Given the description of an element on the screen output the (x, y) to click on. 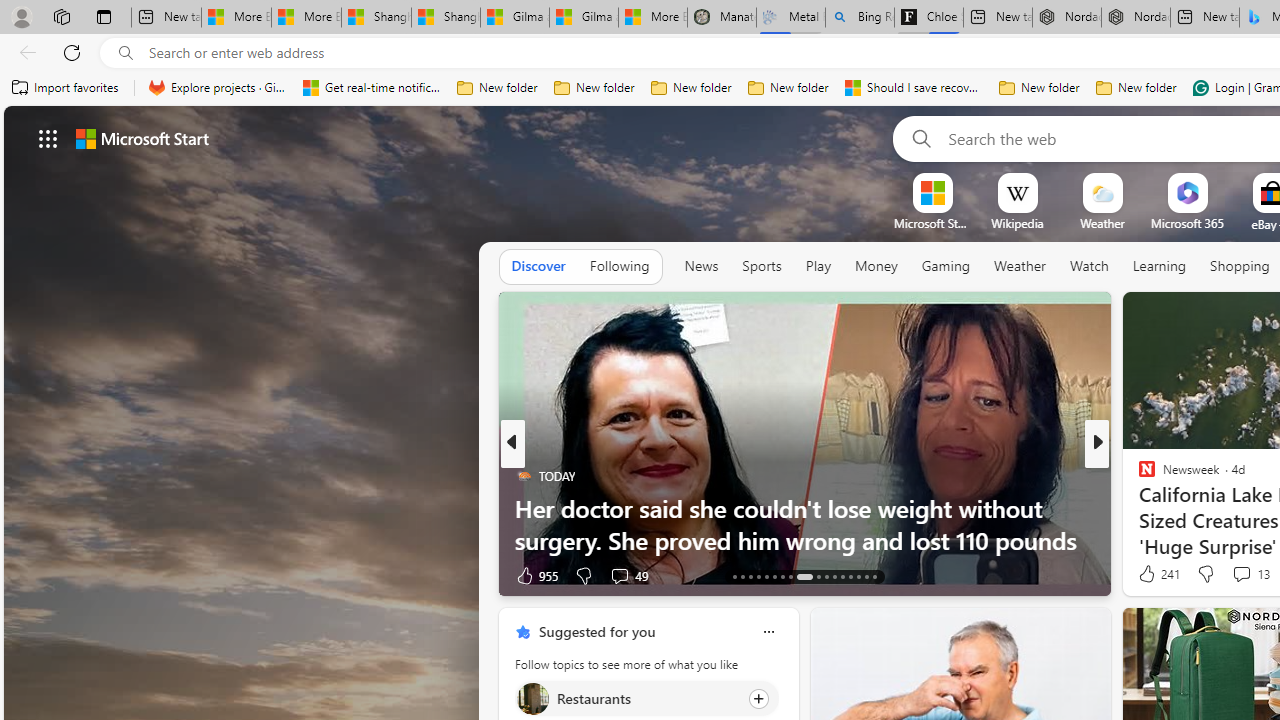
TODAY (522, 475)
Should I save recovered Word documents? - Microsoft Support (913, 88)
Bing Real Estate - Home sales and rental listings (859, 17)
Business Insider (1138, 475)
AutomationID: tab-26 (850, 576)
15 Like (1149, 574)
View comments 18 Comment (1244, 574)
AutomationID: tab-18 (774, 576)
AutomationID: tab-19 (782, 576)
227 Like (1151, 574)
View comments 49 Comment (628, 574)
241 Like (1157, 574)
Class: icon-img (768, 632)
Manatee Mortality Statistics | FWC (721, 17)
